Given the description of an element on the screen output the (x, y) to click on. 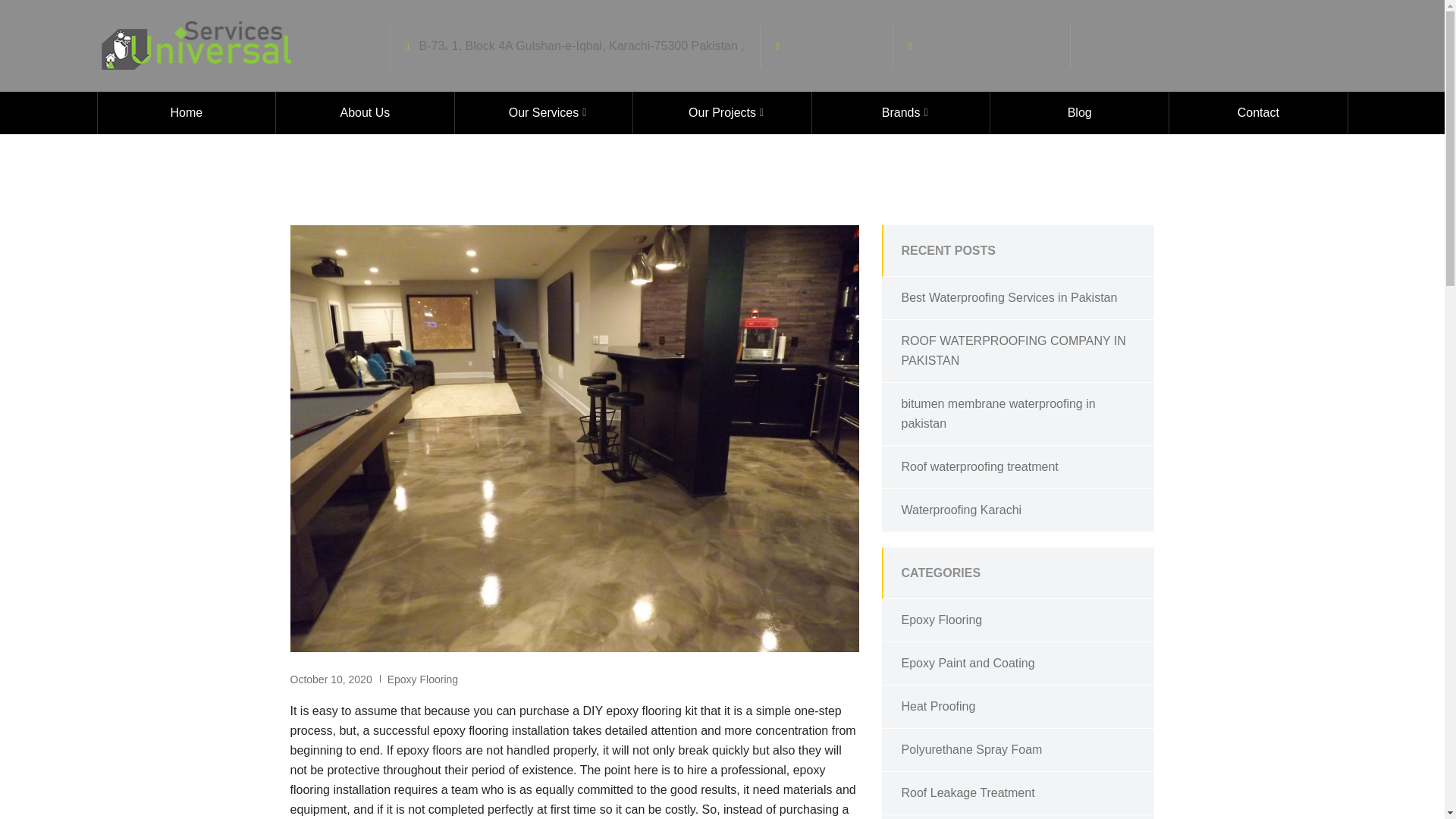
Our Projects (721, 112)
About Us (365, 112)
Home (186, 112)
Contact (1258, 112)
Blog (1079, 112)
Brands (901, 112)
Our Services (543, 112)
